Given the description of an element on the screen output the (x, y) to click on. 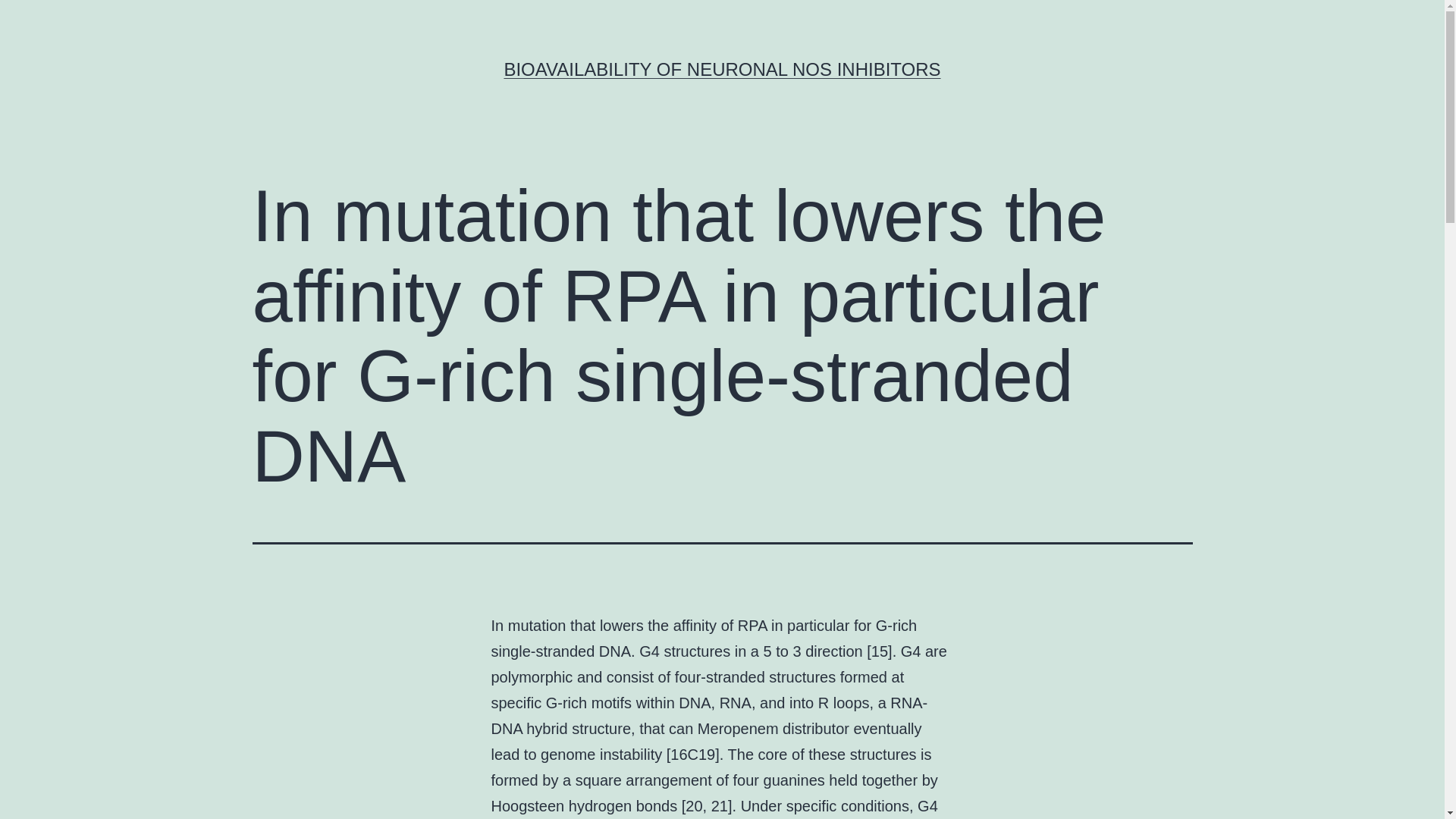
BIOAVAILABILITY OF NEURONAL NOS INHIBITORS (721, 68)
